Given the description of an element on the screen output the (x, y) to click on. 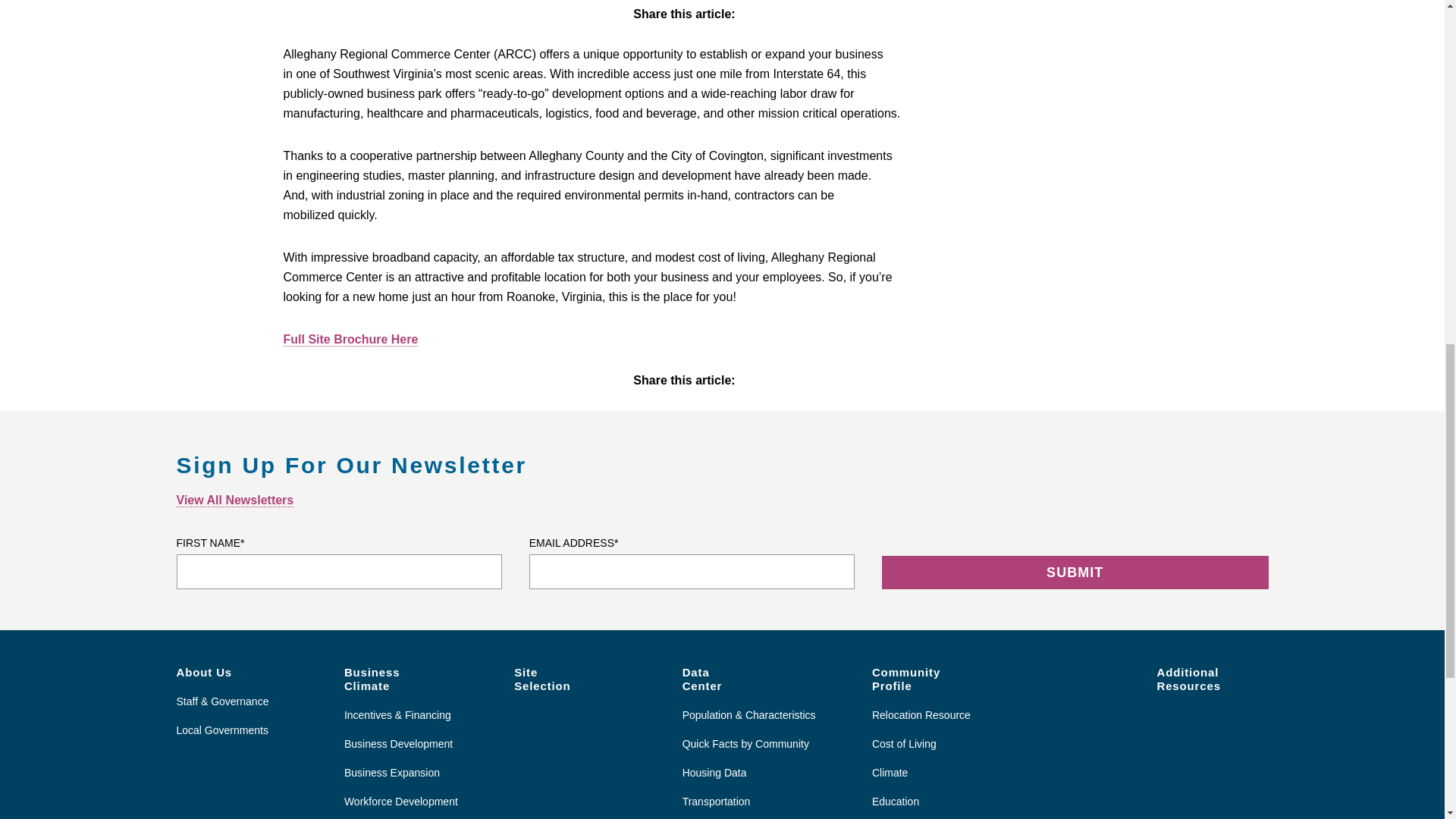
Submit (1075, 572)
View All Newsletters (235, 499)
Full Site Brochure Here (351, 339)
